Given the description of an element on the screen output the (x, y) to click on. 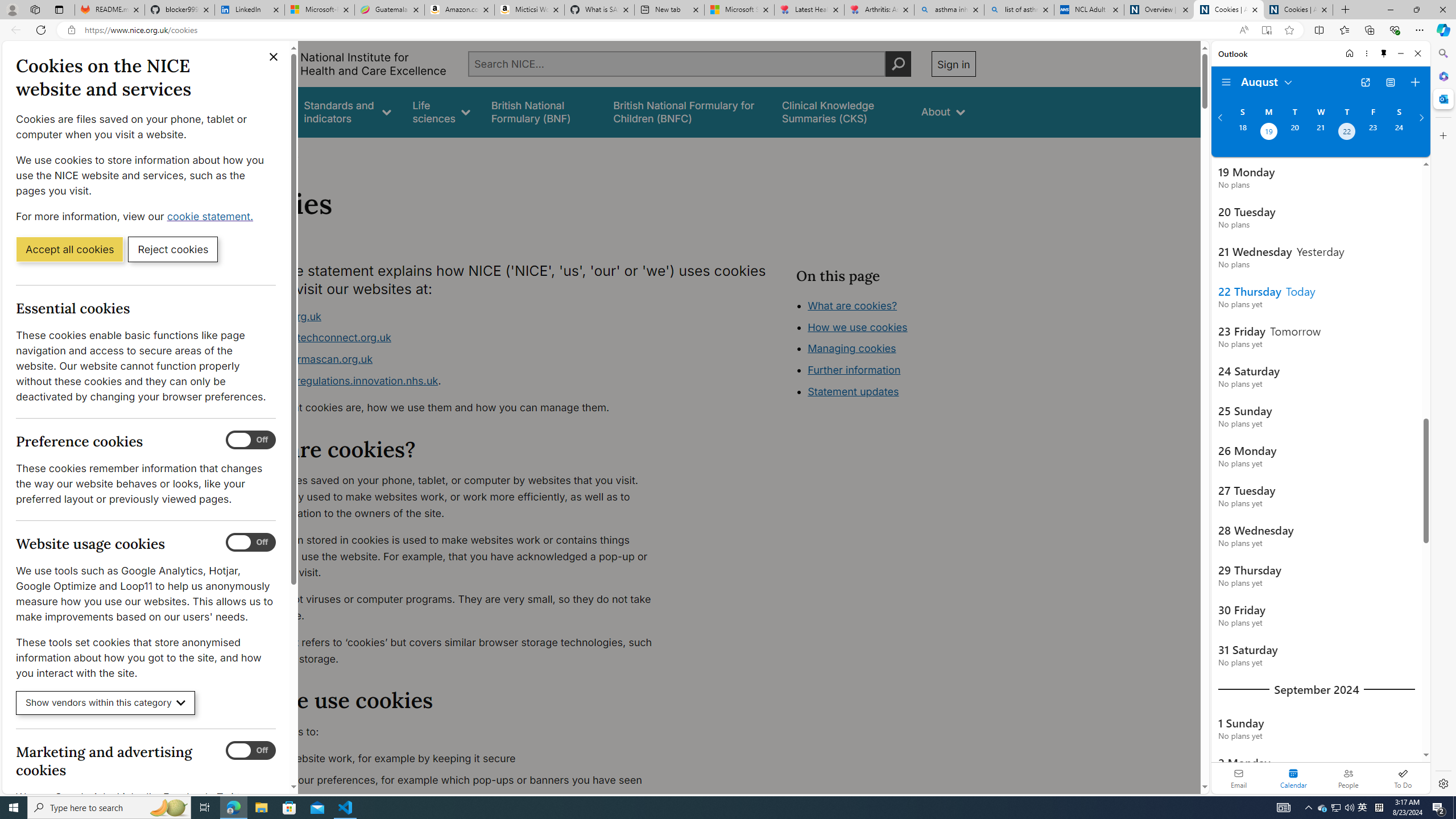
What are cookies? (852, 305)
Preference cookies (250, 439)
To Do (1402, 777)
Accept all cookies (69, 248)
